Given the description of an element on the screen output the (x, y) to click on. 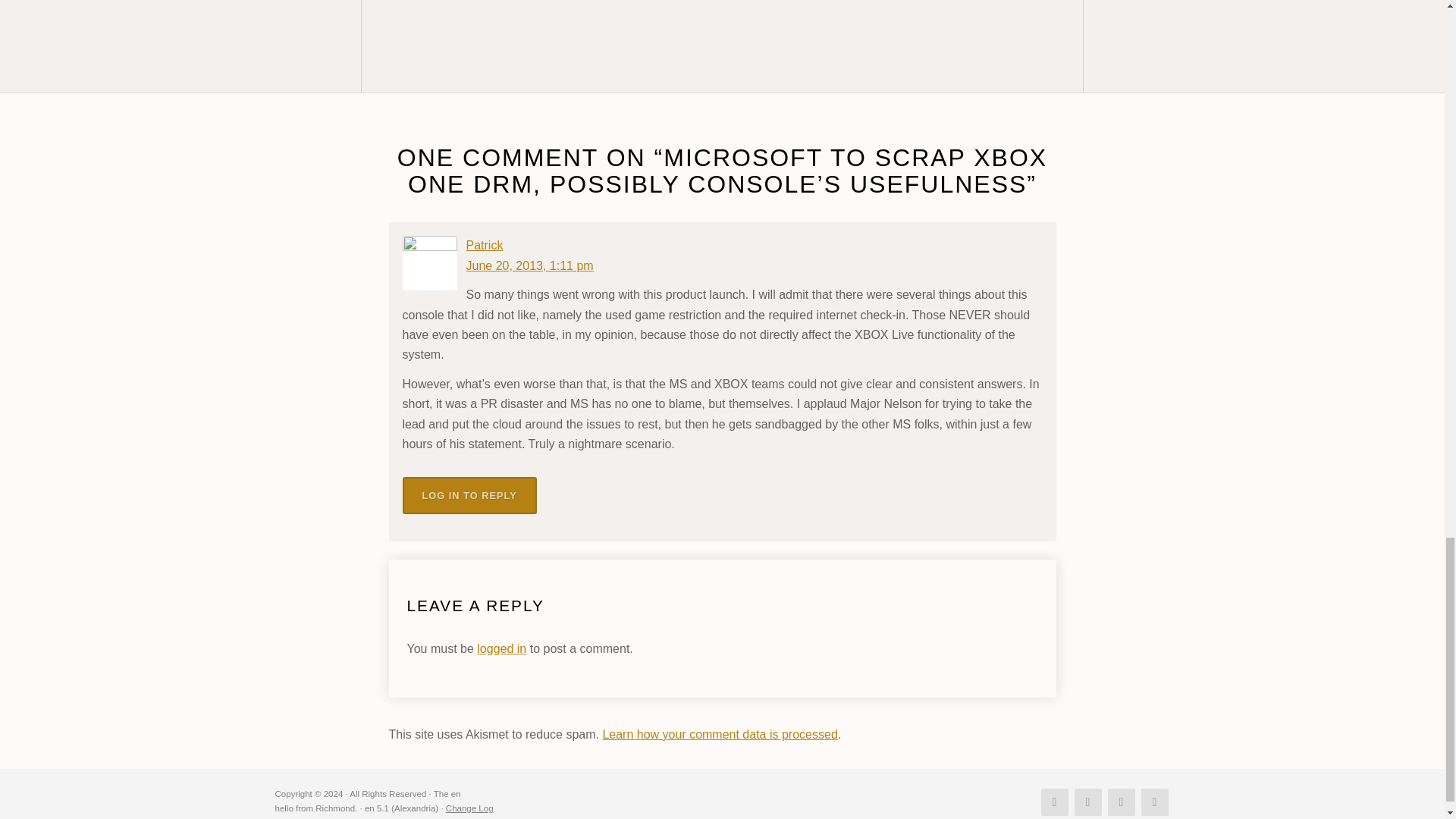
June 20, 2013, 1:11 pm (528, 265)
LOG IN TO REPLY (468, 495)
Patrick (483, 245)
logged in (501, 648)
Change Log (469, 808)
Learn how your comment data is processed (719, 734)
